Given the description of an element on the screen output the (x, y) to click on. 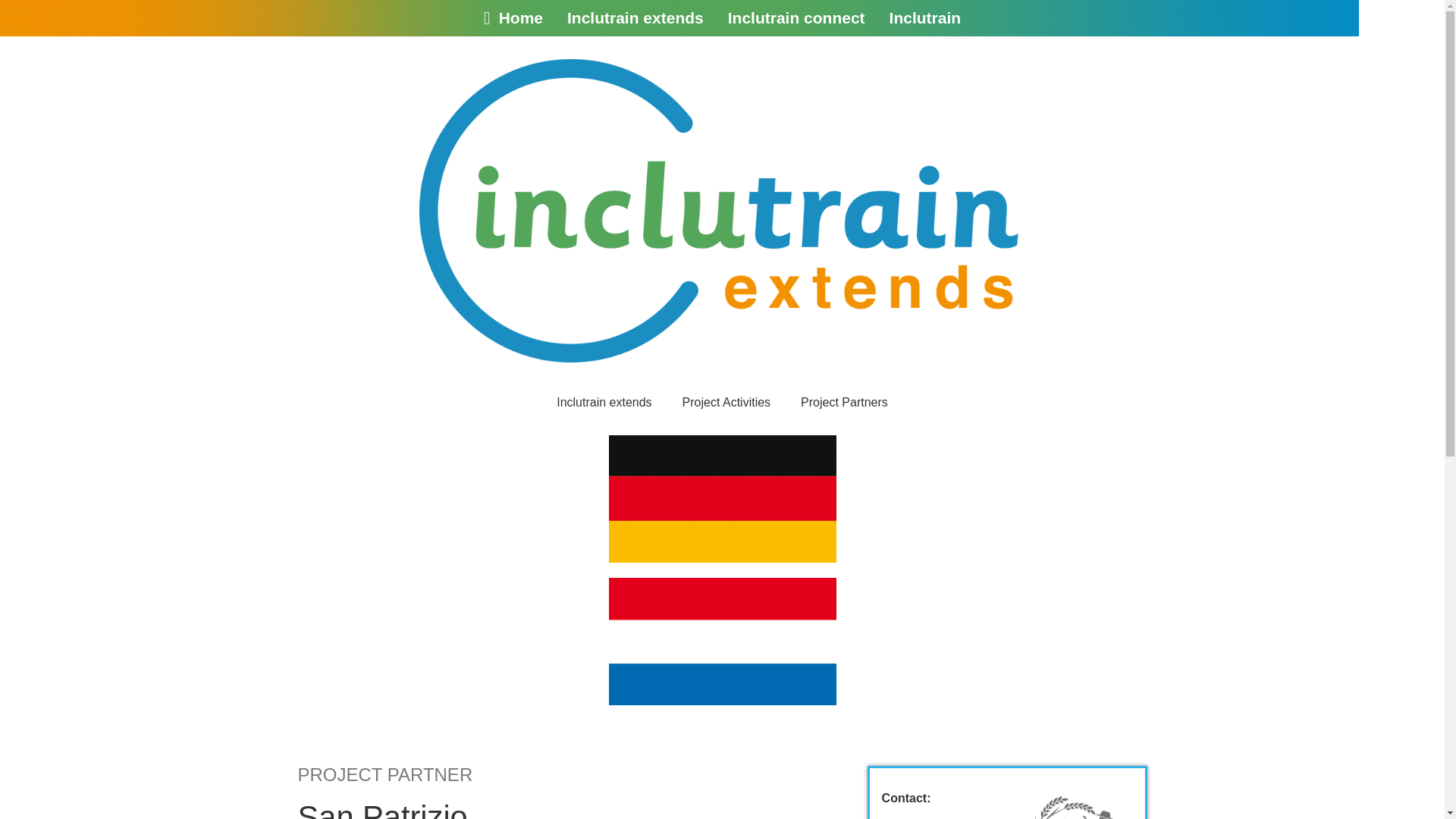
Project Partners (844, 402)
Inclutrain (924, 17)
Inclutrain connect (796, 17)
Inclutrain extends (603, 402)
Project Activities (726, 402)
Home (513, 17)
Inclutrain extends (635, 17)
